Given the description of an element on the screen output the (x, y) to click on. 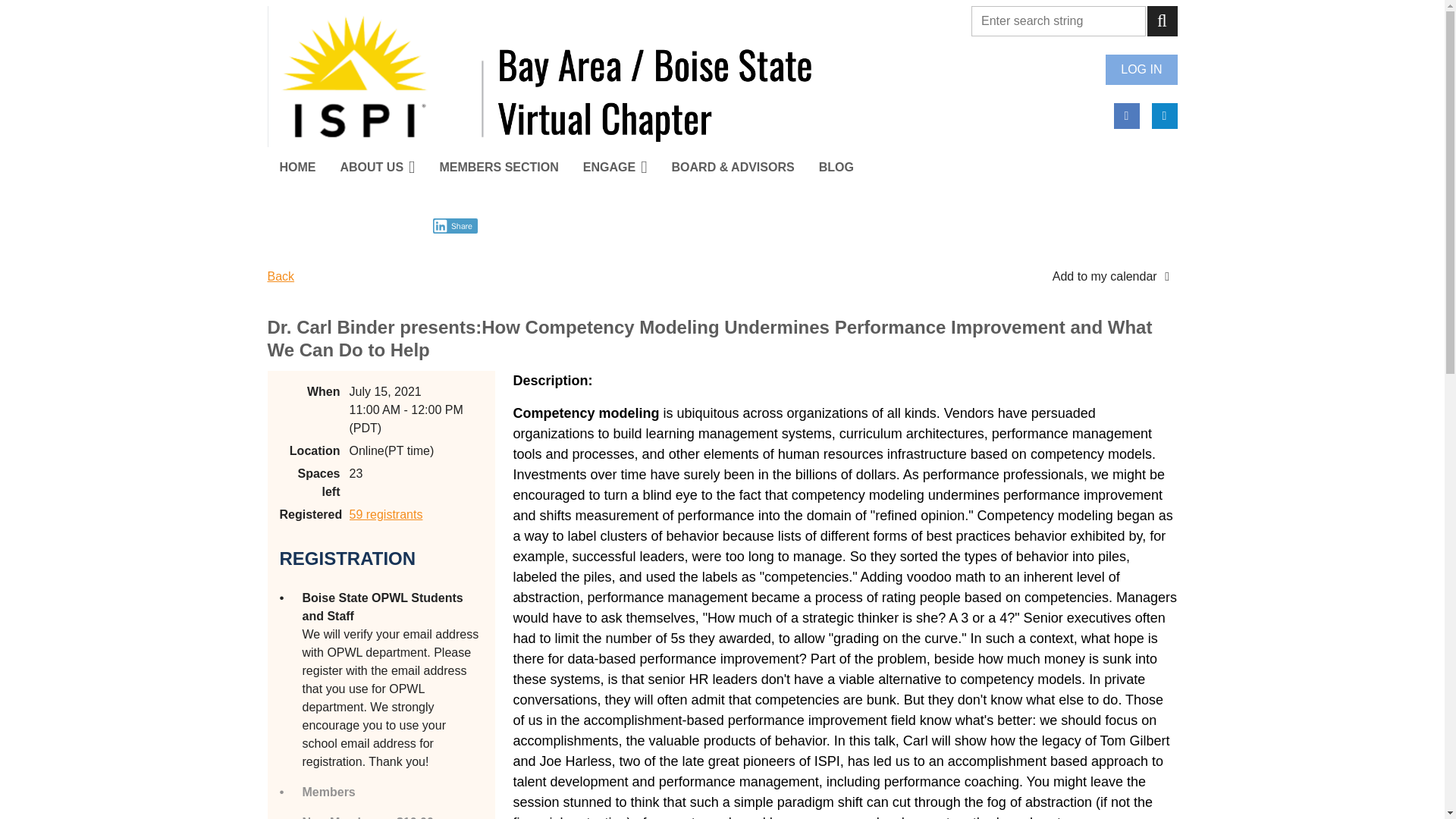
HOME (296, 166)
ABOUT US (376, 166)
Facebook (1125, 115)
LOG IN (1140, 69)
BLOG (836, 166)
ENGAGE (614, 166)
Share (454, 225)
MEMBERS SECTION (498, 166)
Back (280, 276)
Search (1161, 20)
Log in (1140, 69)
